Given the description of an element on the screen output the (x, y) to click on. 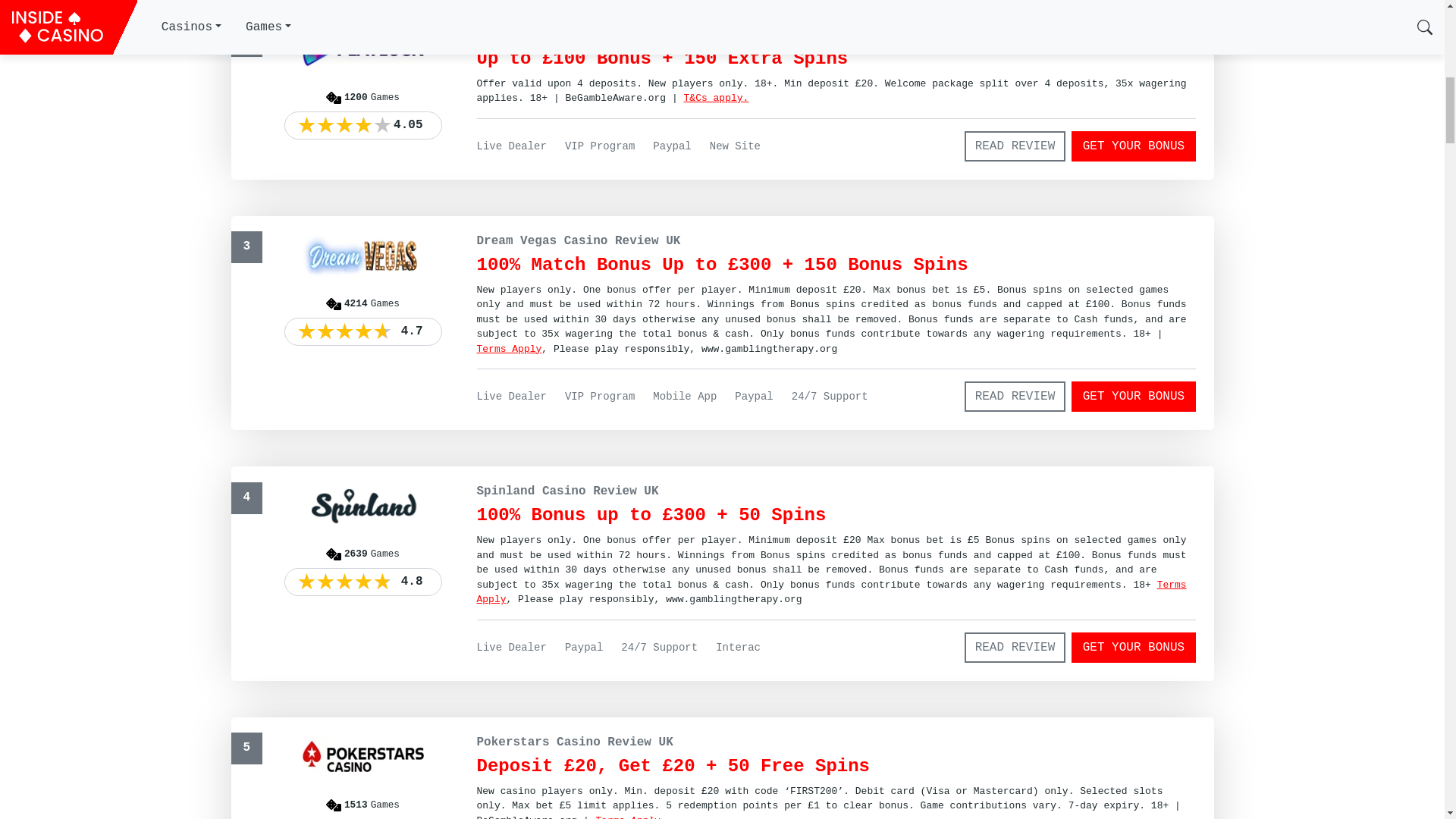
PlayLuck (716, 98)
